Given the description of an element on the screen output the (x, y) to click on. 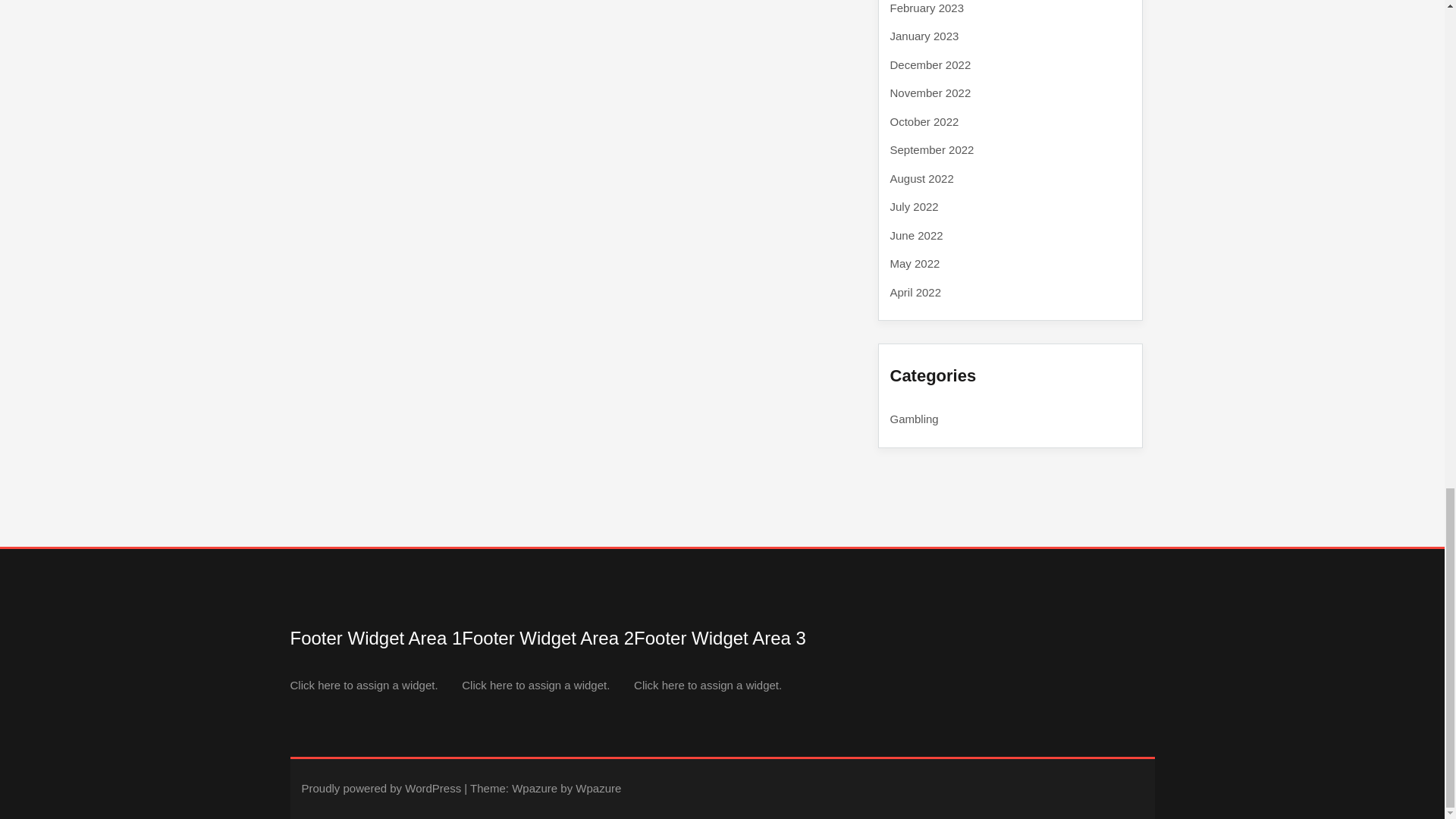
Gambling (914, 418)
Click here to assign a widget. (363, 684)
June 2022 (916, 234)
December 2022 (930, 64)
May 2022 (914, 263)
August 2022 (921, 178)
February 2023 (926, 6)
October 2022 (924, 120)
July 2022 (914, 205)
January 2023 (924, 35)
November 2022 (930, 92)
April 2022 (915, 291)
September 2022 (931, 149)
